Given the description of an element on the screen output the (x, y) to click on. 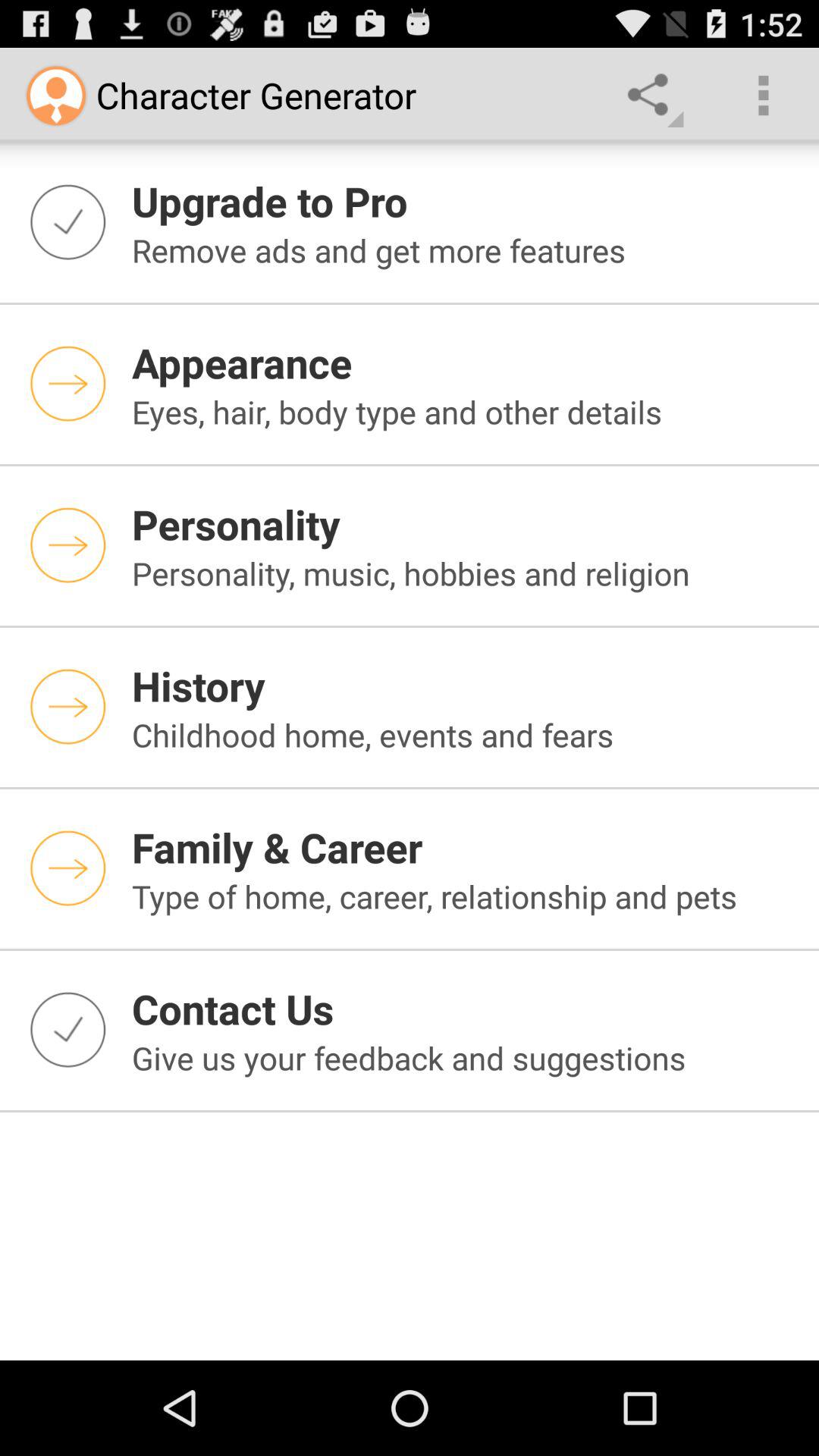
flip to upgrade to pro item (465, 200)
